Given the description of an element on the screen output the (x, y) to click on. 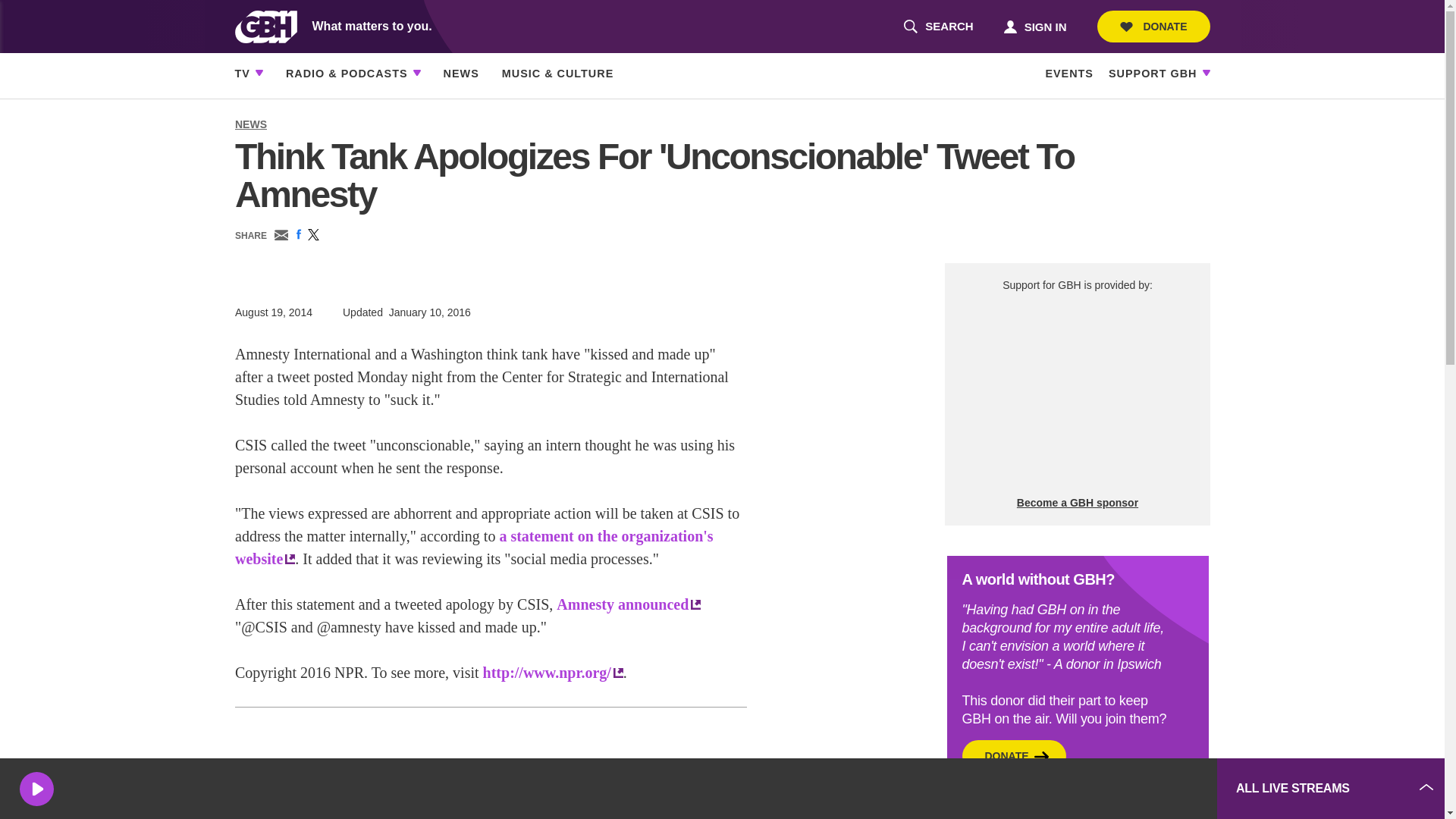
SIGN IN (1034, 25)
DONATE (1153, 26)
3rd party ad content (1091, 788)
3rd party ad content (937, 26)
